Given the description of an element on the screen output the (x, y) to click on. 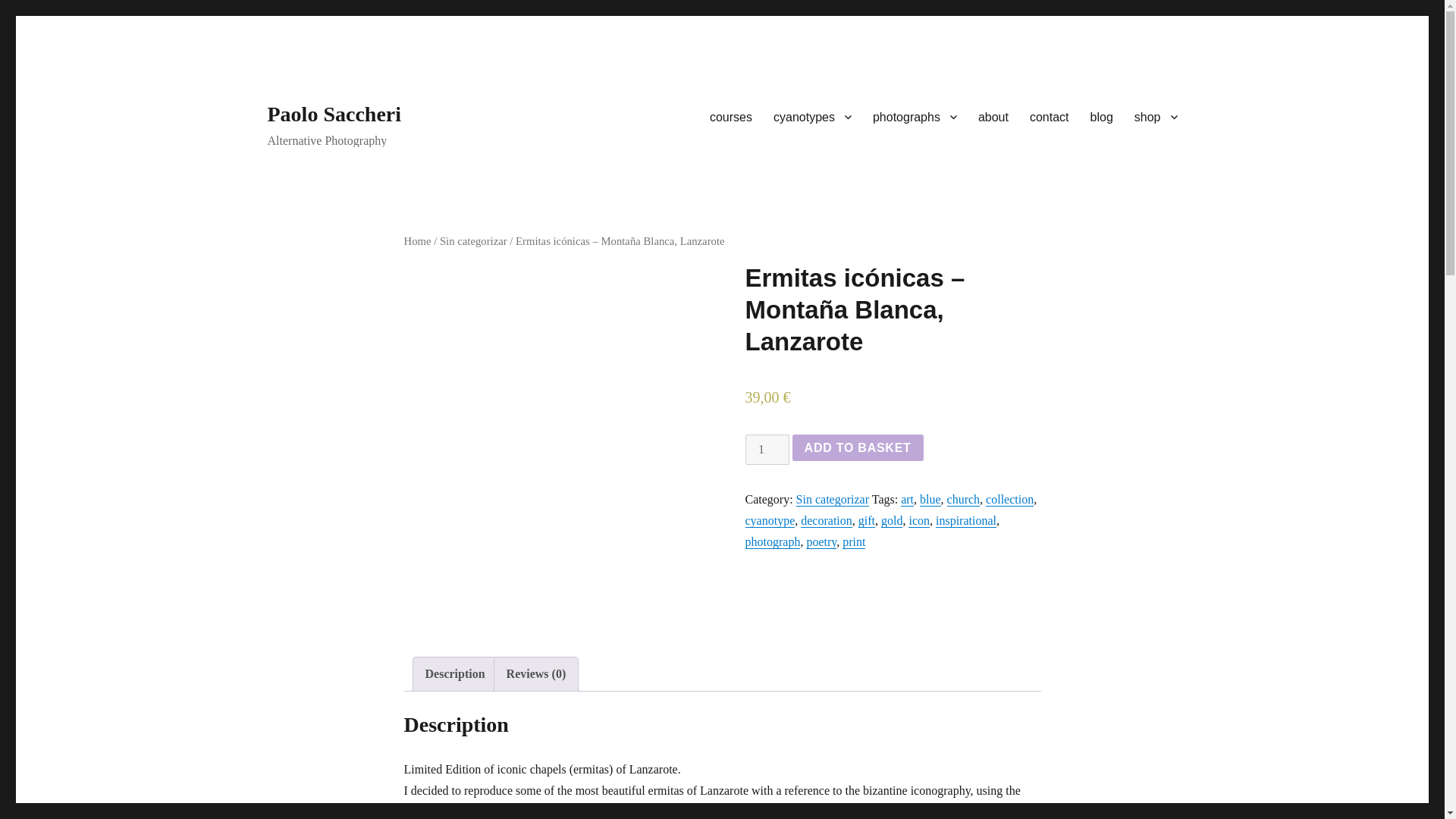
shop (1156, 116)
1 (766, 449)
blog (1102, 116)
contact (1049, 116)
about (993, 116)
courses (730, 116)
Paolo Saccheri (333, 114)
cyanotypes (811, 116)
photographs (914, 116)
